Given the description of an element on the screen output the (x, y) to click on. 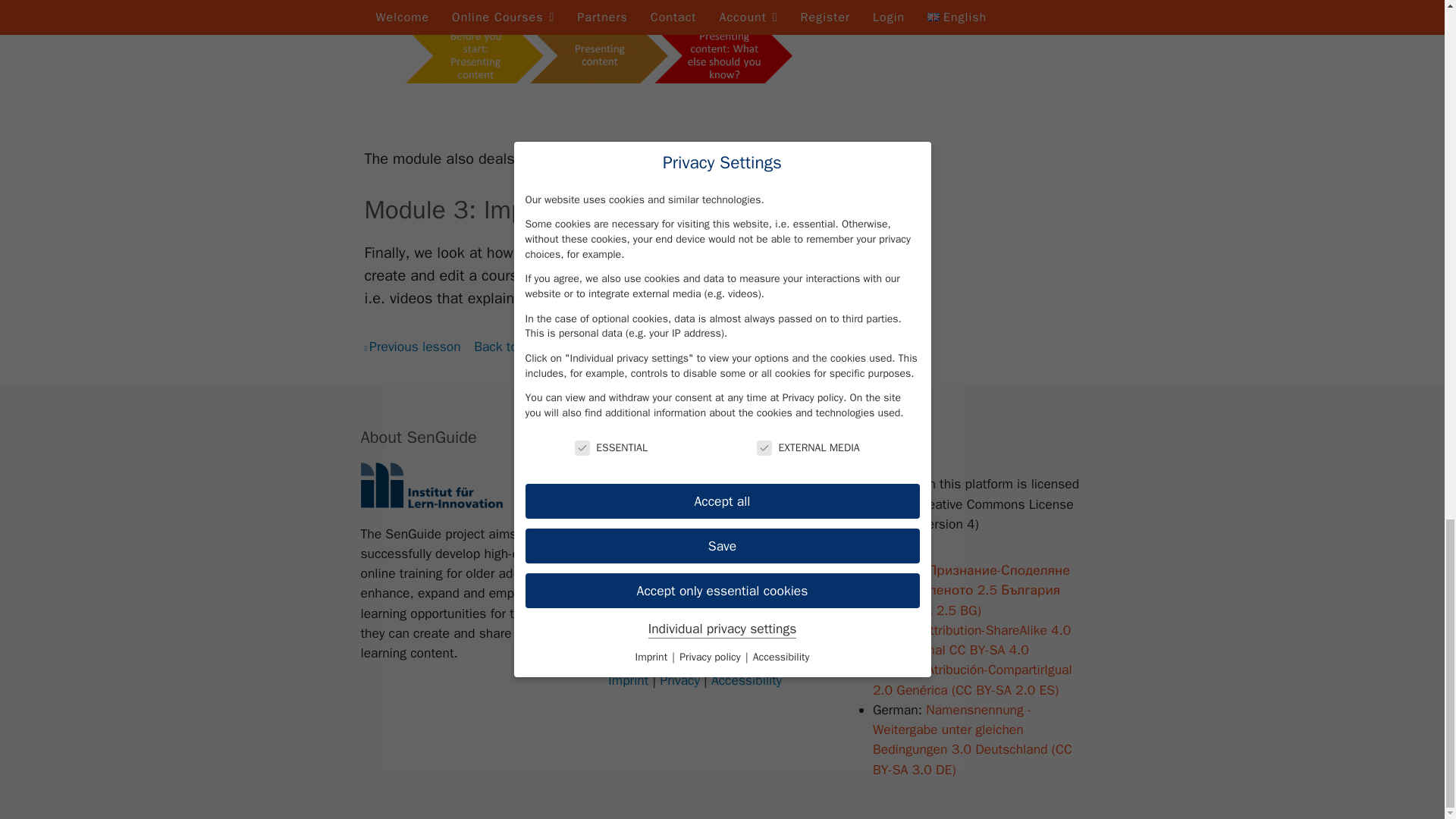
Attribution-ShareAlike 4.0 International CC BY-SA 4.0 (971, 639)
Accessibility (746, 679)
Back to first lesson (532, 346)
Imprint (627, 679)
Previous lesson (412, 346)
Privacy (678, 679)
